Given the description of an element on the screen output the (x, y) to click on. 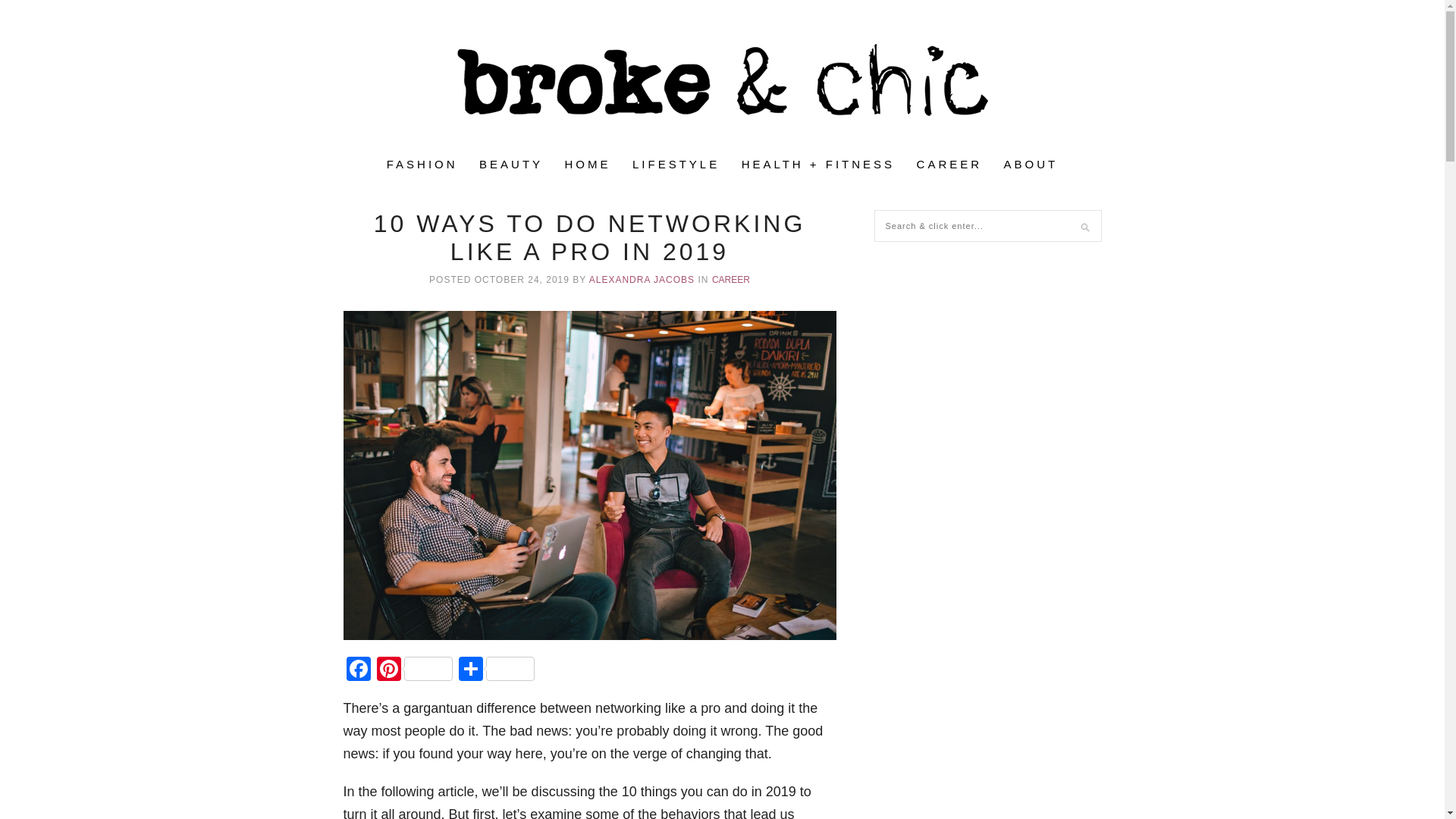
FASHION (422, 164)
Posts by Alexandra Jacobs (641, 279)
BEAUTY (511, 164)
View all posts in Career (730, 279)
Facebook (357, 670)
CAREER (949, 164)
Pinterest (413, 670)
Pinterest (413, 670)
Share (495, 670)
HOME (587, 164)
ABOUT (1031, 164)
LIFESTYLE (675, 164)
CAREER (730, 279)
Facebook (357, 670)
ALEXANDRA JACOBS (641, 279)
